Given the description of an element on the screen output the (x, y) to click on. 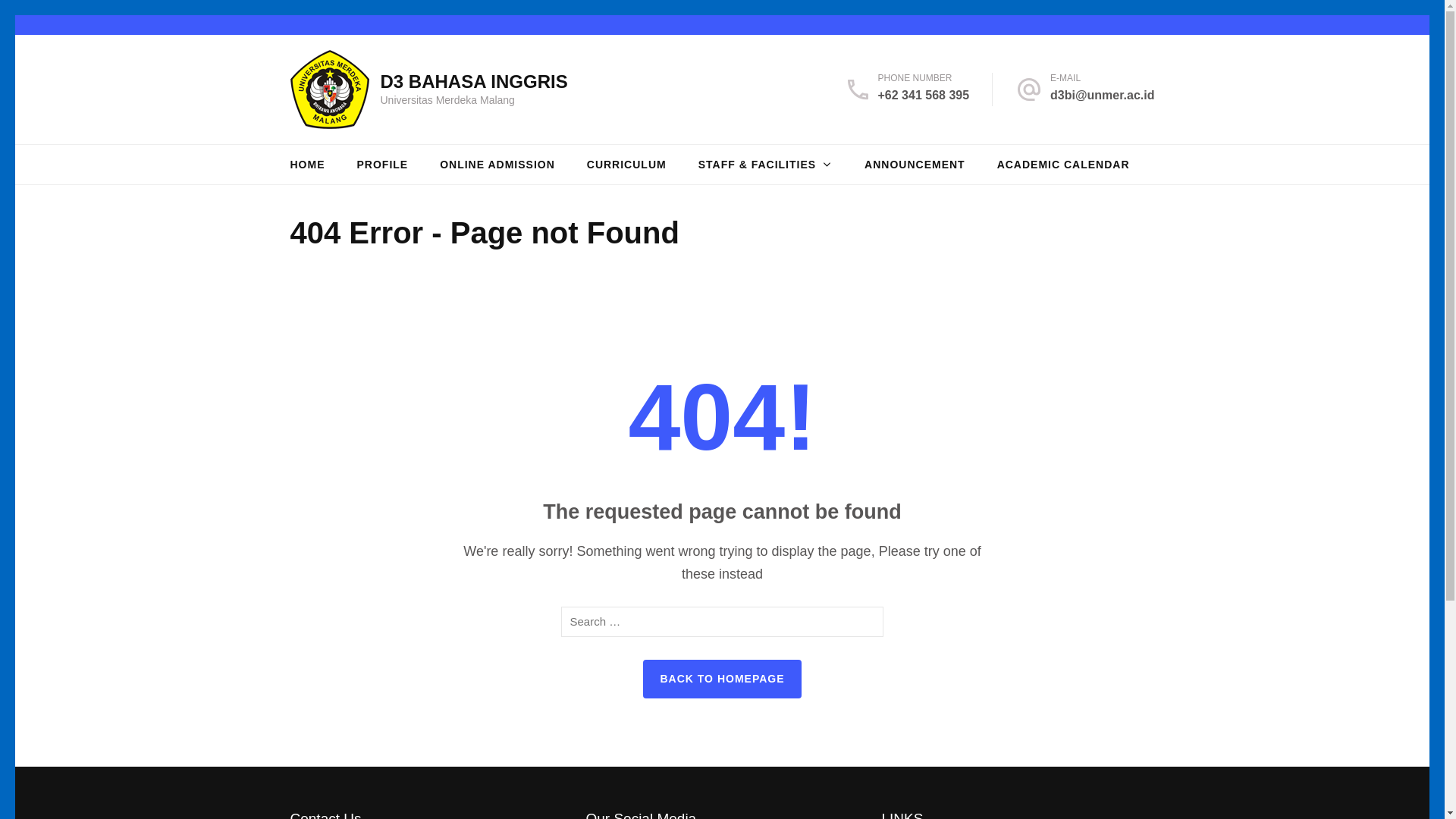
ANNOUNCEMENT (914, 164)
Search (866, 621)
Search (866, 621)
D3 BAHASA INGGRIS (473, 81)
Search (866, 621)
ONLINE ADMISSION (496, 164)
HOME (306, 164)
PROFILE (381, 164)
BACK TO HOMEPAGE (721, 679)
ACADEMIC CALENDAR (1063, 164)
